Given the description of an element on the screen output the (x, y) to click on. 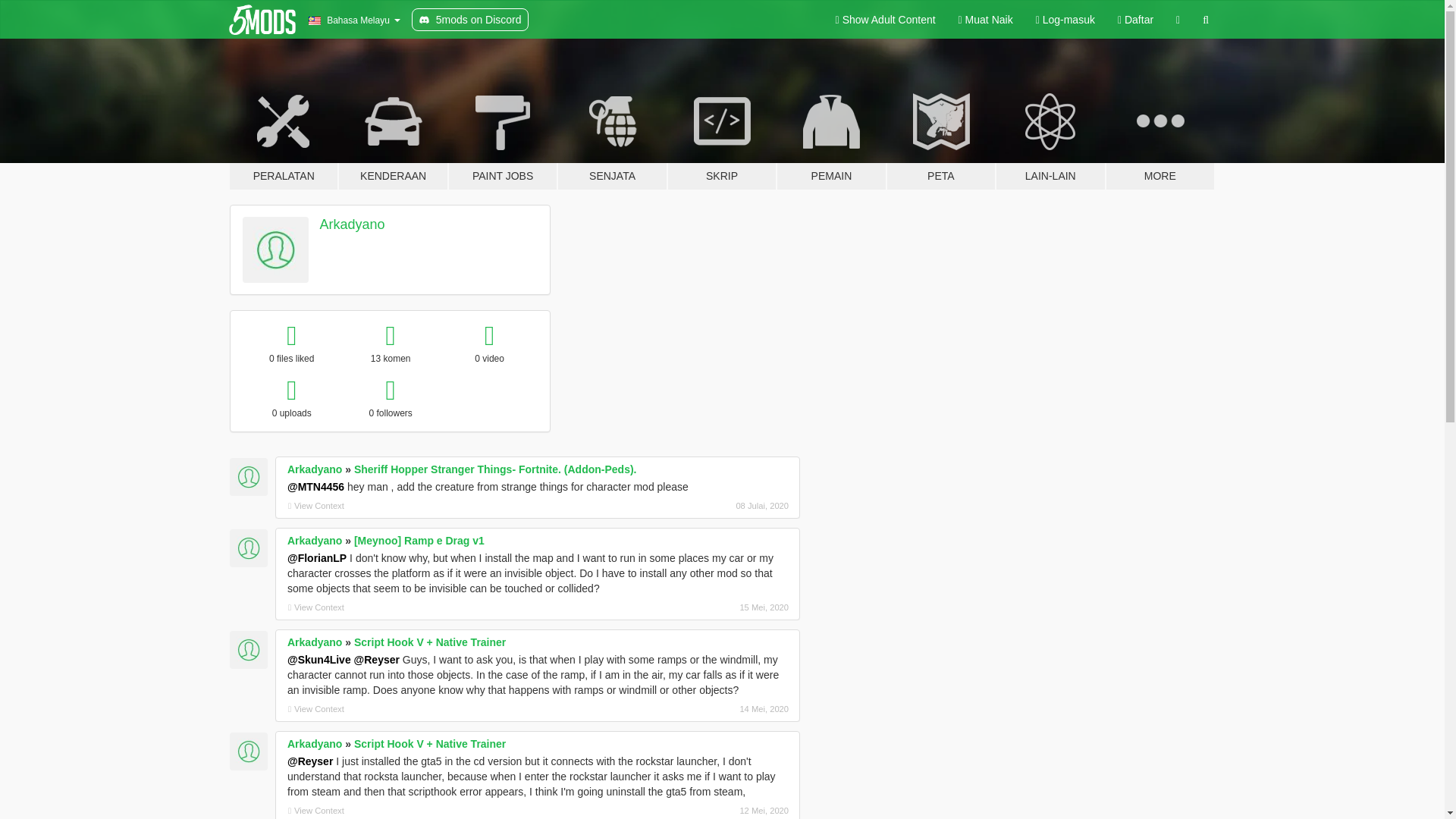
Show Adult Content (885, 19)
Daftar (1135, 19)
Light mode (885, 19)
Dark mode (1177, 19)
Muat Naik (986, 19)
Log-masuk (1065, 19)
  Bahasa Melayu (353, 19)
5mods on Discord (470, 19)
